Given the description of an element on the screen output the (x, y) to click on. 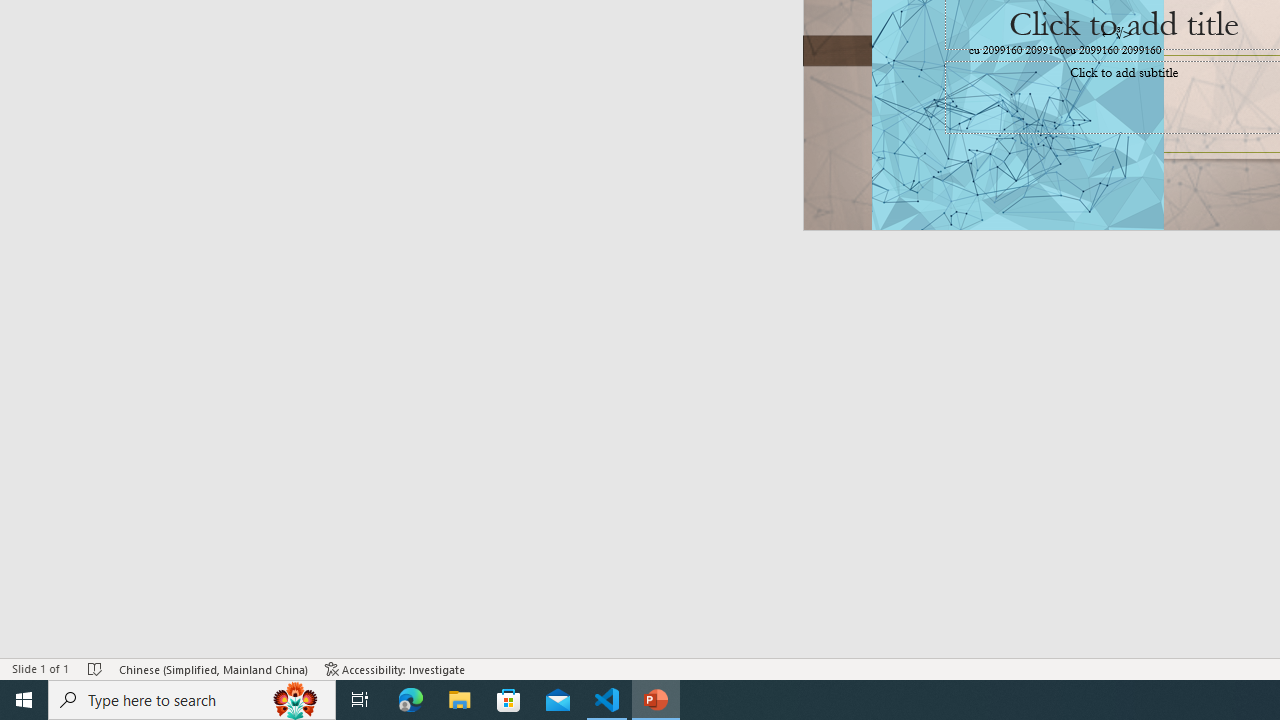
TextBox 7 (1117, 33)
